Given the description of an element on the screen output the (x, y) to click on. 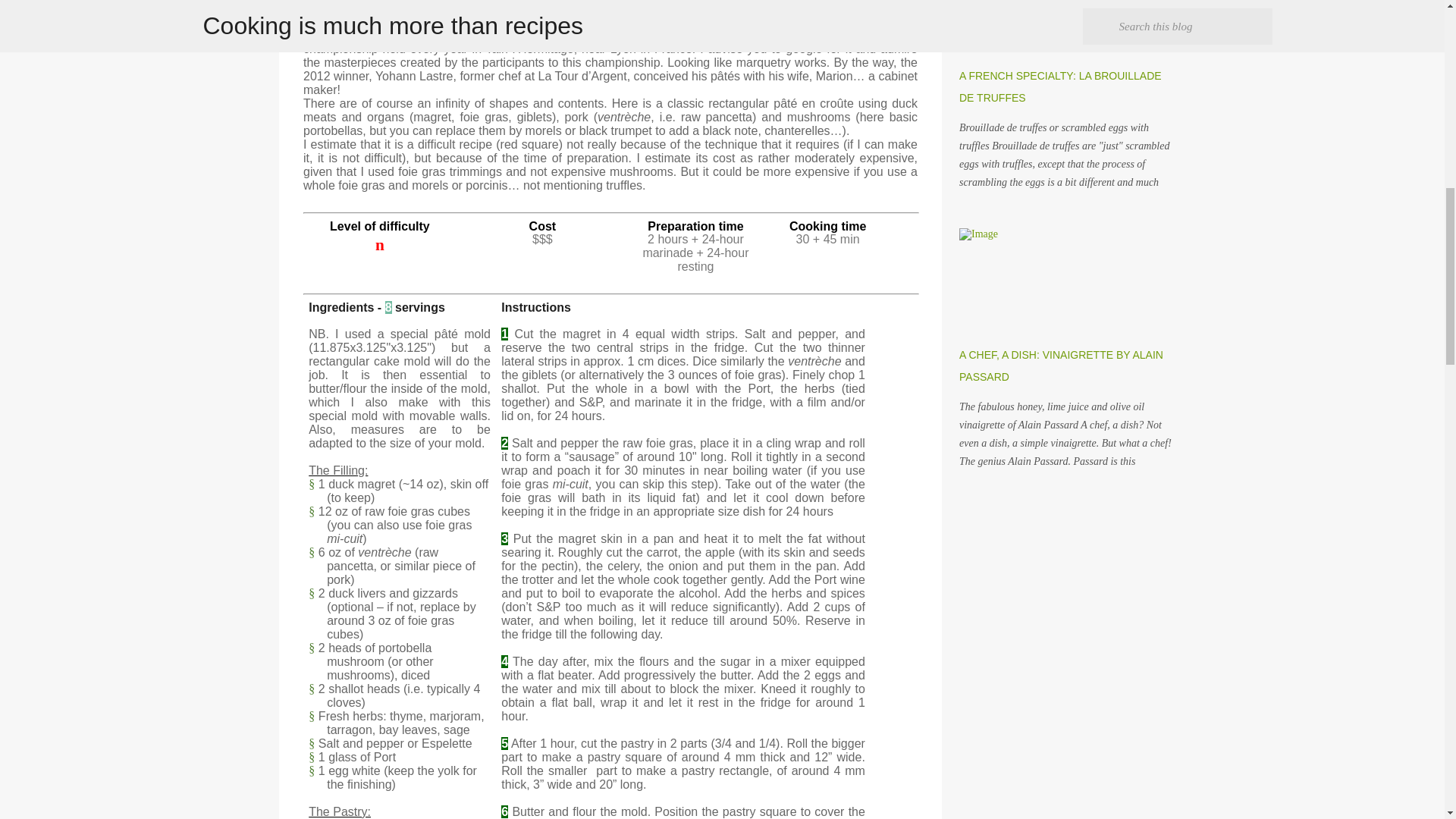
A FRENCH SPECIALTY: LA BROUILLADE DE TRUFFES (1060, 86)
A CHEF, A DISH: VINAIGRETTE BY ALAIN PASSARD (1061, 365)
